Given the description of an element on the screen output the (x, y) to click on. 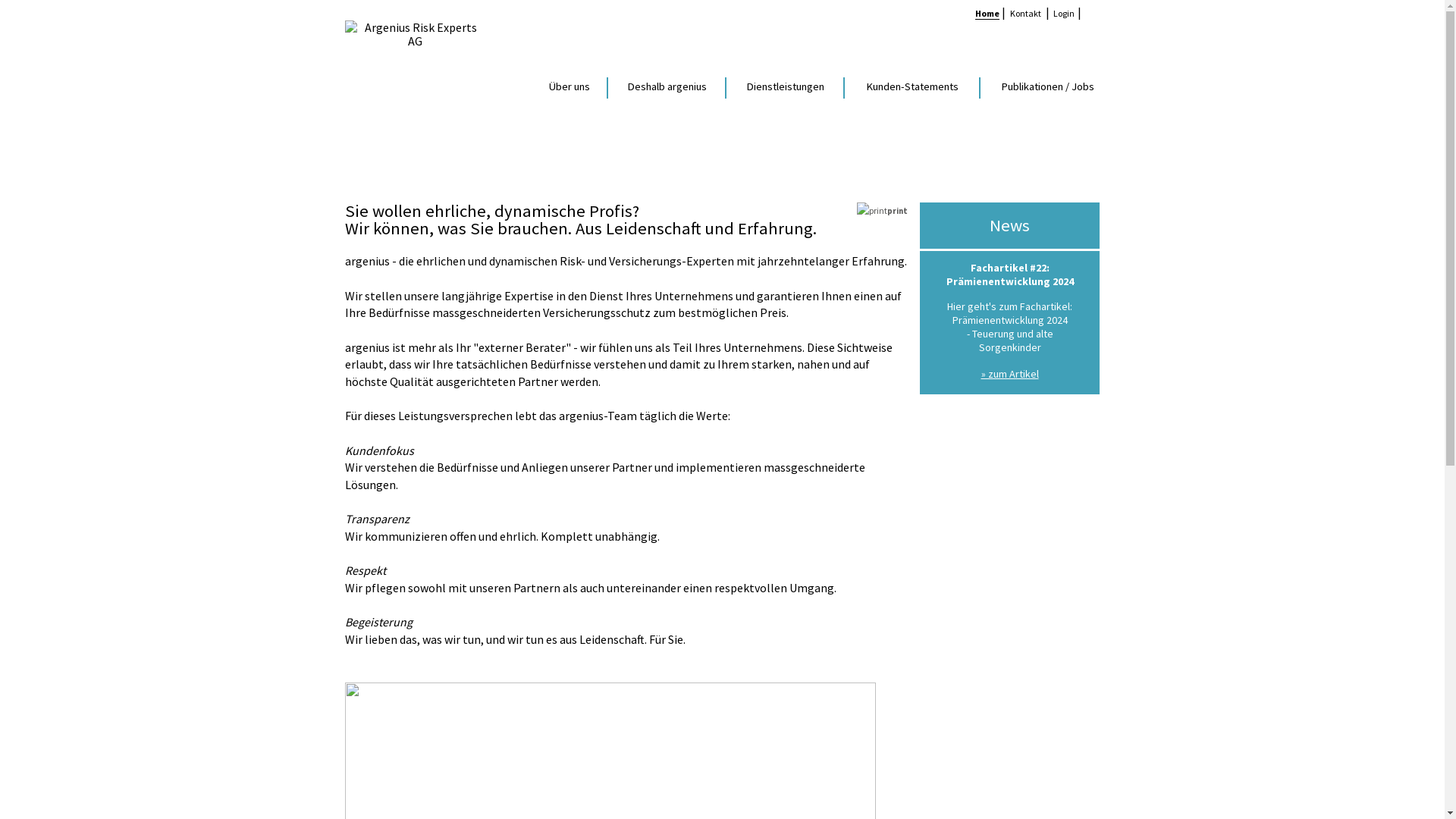
Deshalb argenius Element type: text (666, 87)
Publikationen / Jobs Element type: text (1039, 87)
Argenius Risk Experts AG Element type: hover (722, 20)
Dienstleistungen Element type: text (784, 87)
News Element type: text (1009, 225)
Kunden-Statements Element type: text (911, 87)
Home Element type: text (366, 122)
Kontakt Element type: text (1025, 14)
Home Element type: text (987, 14)
print Element type: text (880, 212)
